Given the description of an element on the screen output the (x, y) to click on. 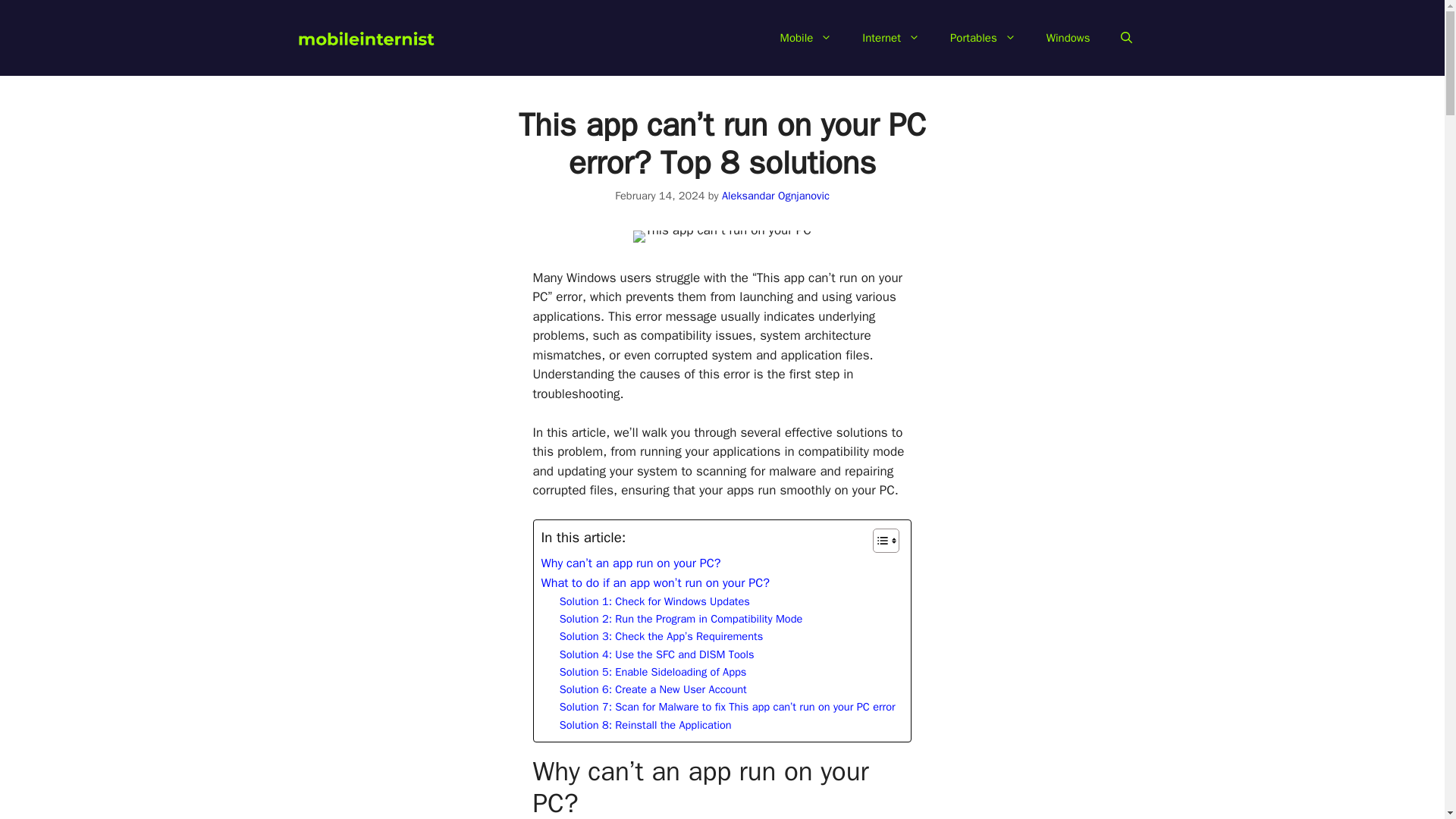
Solution 2: Run the Program in Compatibility Mode (681, 619)
Solution 5: Enable Sideloading of Apps (652, 671)
Mobile (806, 37)
Solution 4: Use the SFC and DISM Tools (656, 654)
Solution 6: Create a New User Account (652, 689)
Solution 4: Use the SFC and DISM Tools (656, 654)
View all posts by Aleksandar Ognjanovic (775, 195)
Internet (890, 37)
Windows (1067, 37)
Portables (982, 37)
Solution 5: Enable Sideloading of Apps (652, 671)
Solution 2: Run the Program in Compatibility Mode (681, 619)
Solution 8: Reinstall the Application (645, 724)
Solution 1: Check for Windows Updates (654, 601)
Solution 6: Create a New User Account (652, 689)
